Given the description of an element on the screen output the (x, y) to click on. 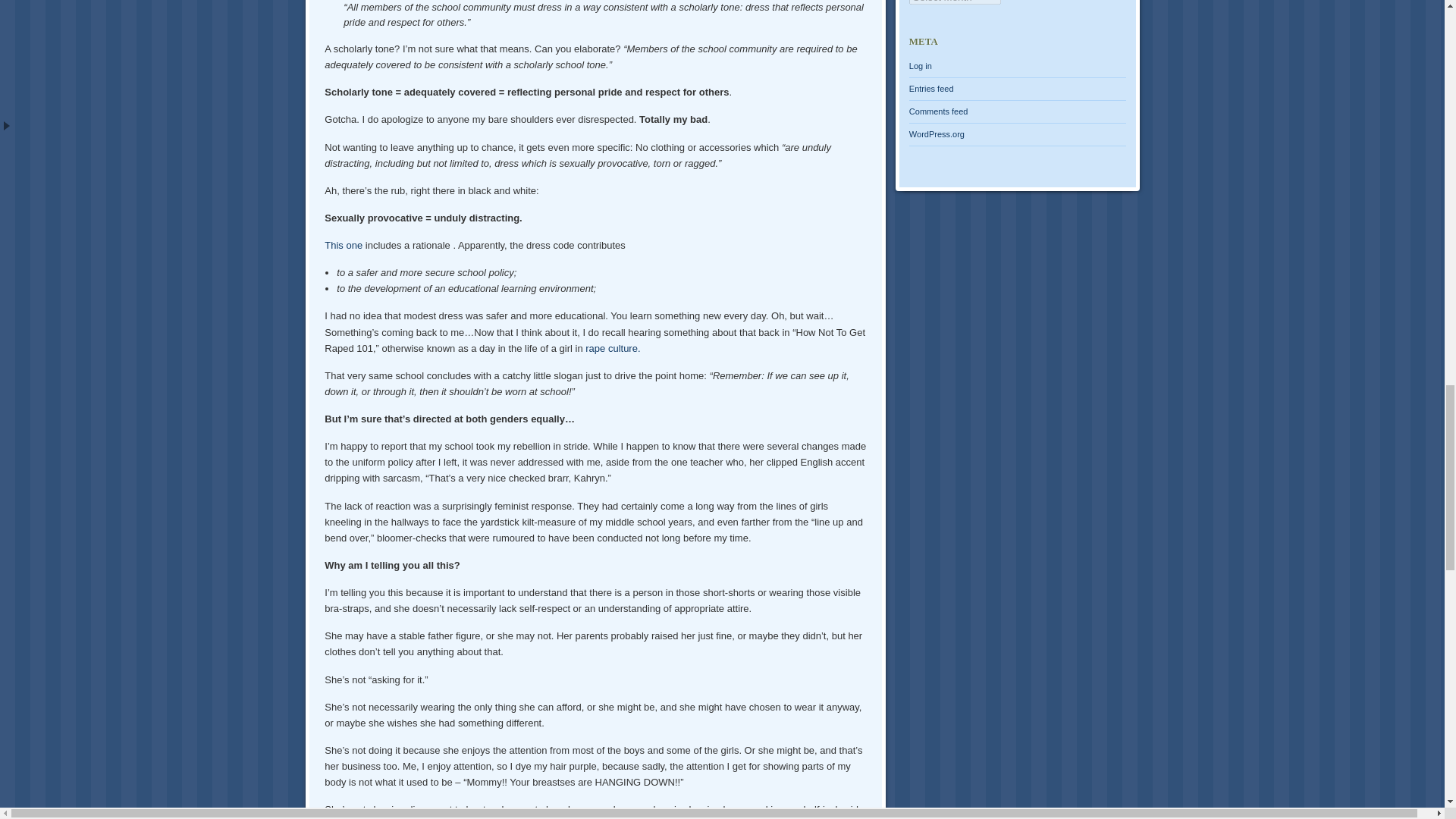
rape culture. (612, 348)
This one (343, 244)
TW, obv. (612, 348)
